Given the description of an element on the screen output the (x, y) to click on. 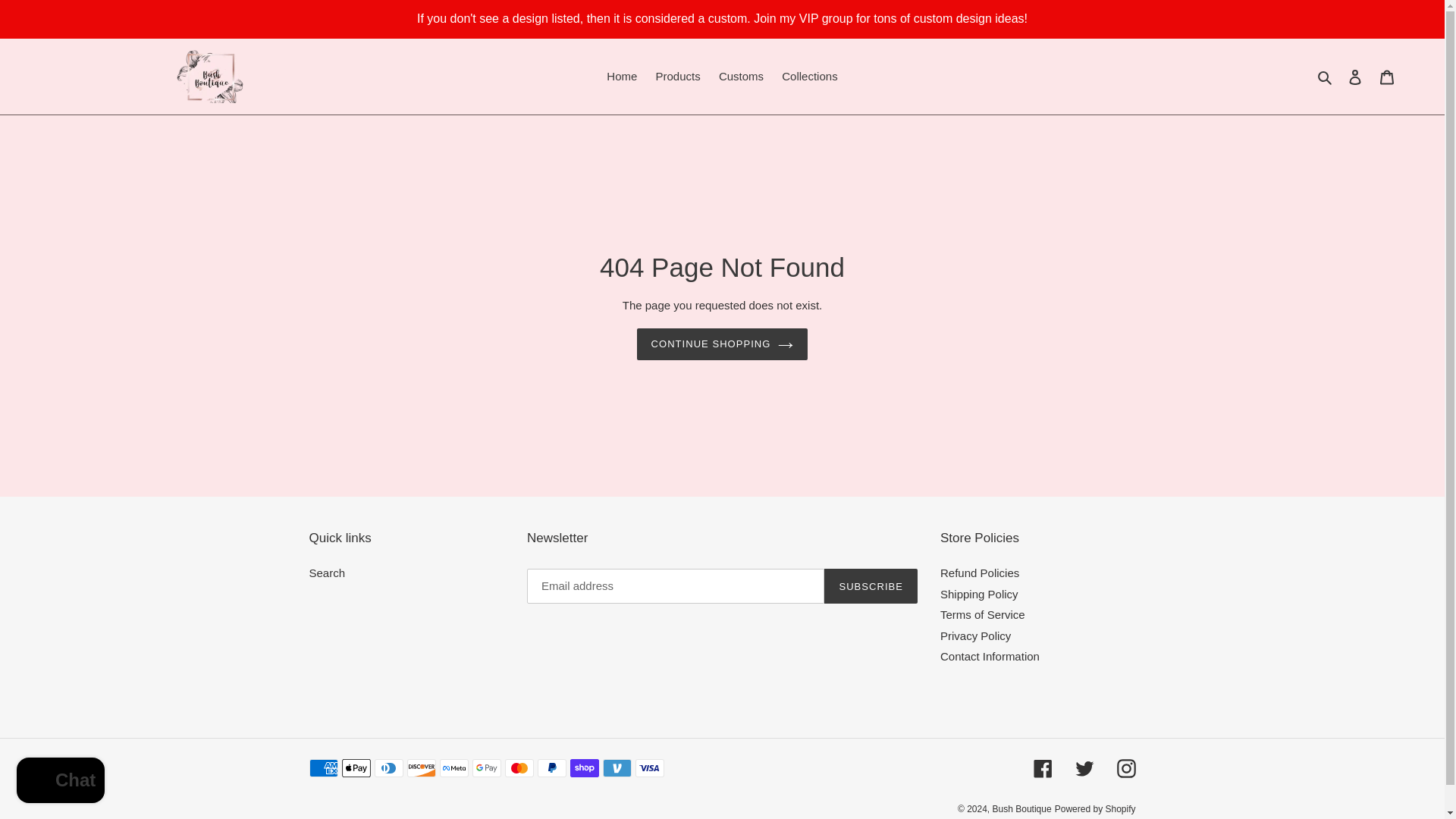
SUBSCRIBE (870, 585)
Powered by Shopify (1094, 808)
Facebook (1041, 768)
Cart (1387, 76)
Contact Information (989, 656)
Shipping Policy (978, 594)
Shopify online store chat (60, 781)
Home (621, 76)
Products (677, 76)
Refund Policies (979, 572)
Search (327, 572)
Collections (809, 76)
Customs (741, 76)
Log in (1355, 76)
Search (1326, 76)
